Given the description of an element on the screen output the (x, y) to click on. 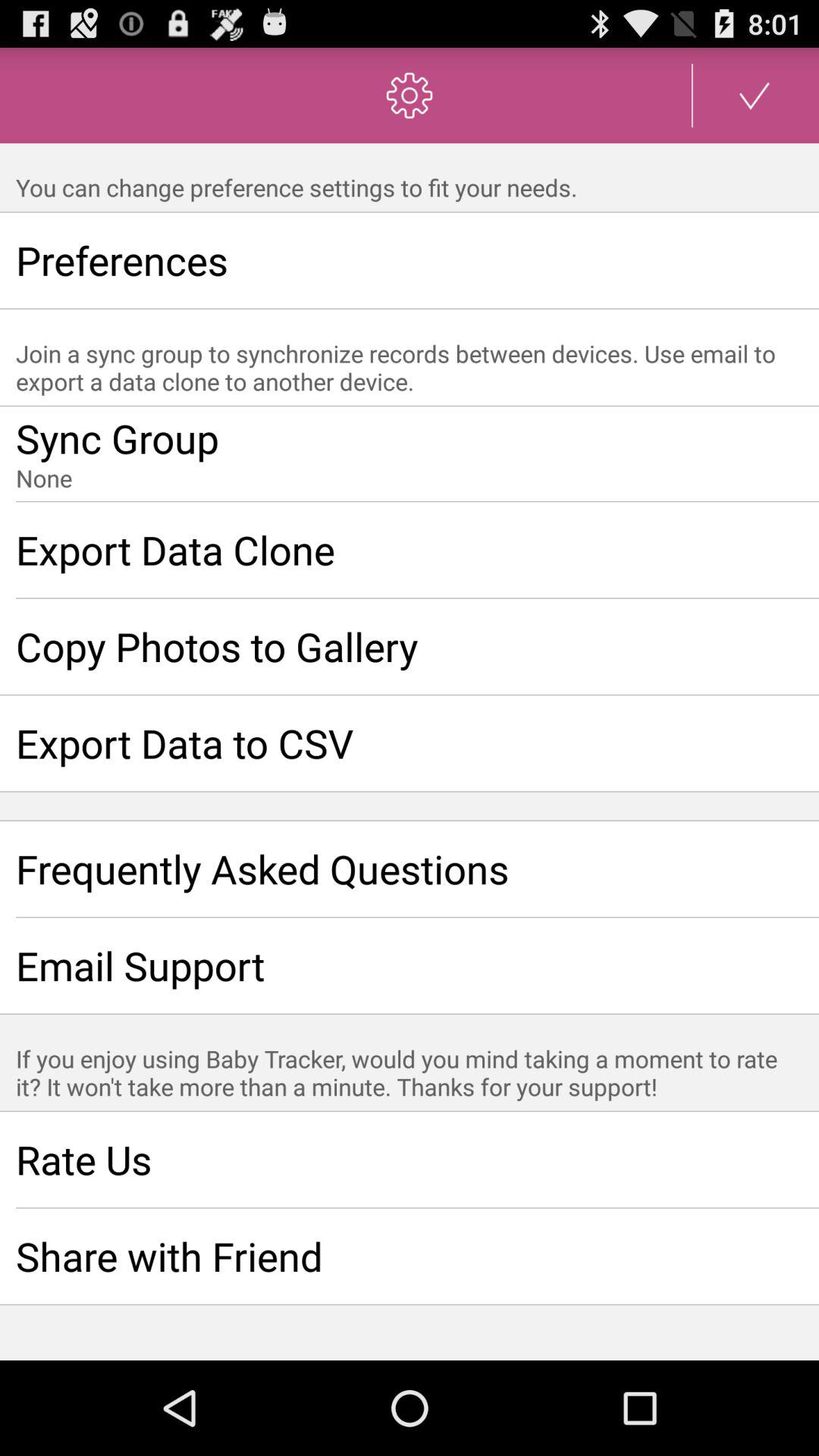
click item above you can change (755, 95)
